Given the description of an element on the screen output the (x, y) to click on. 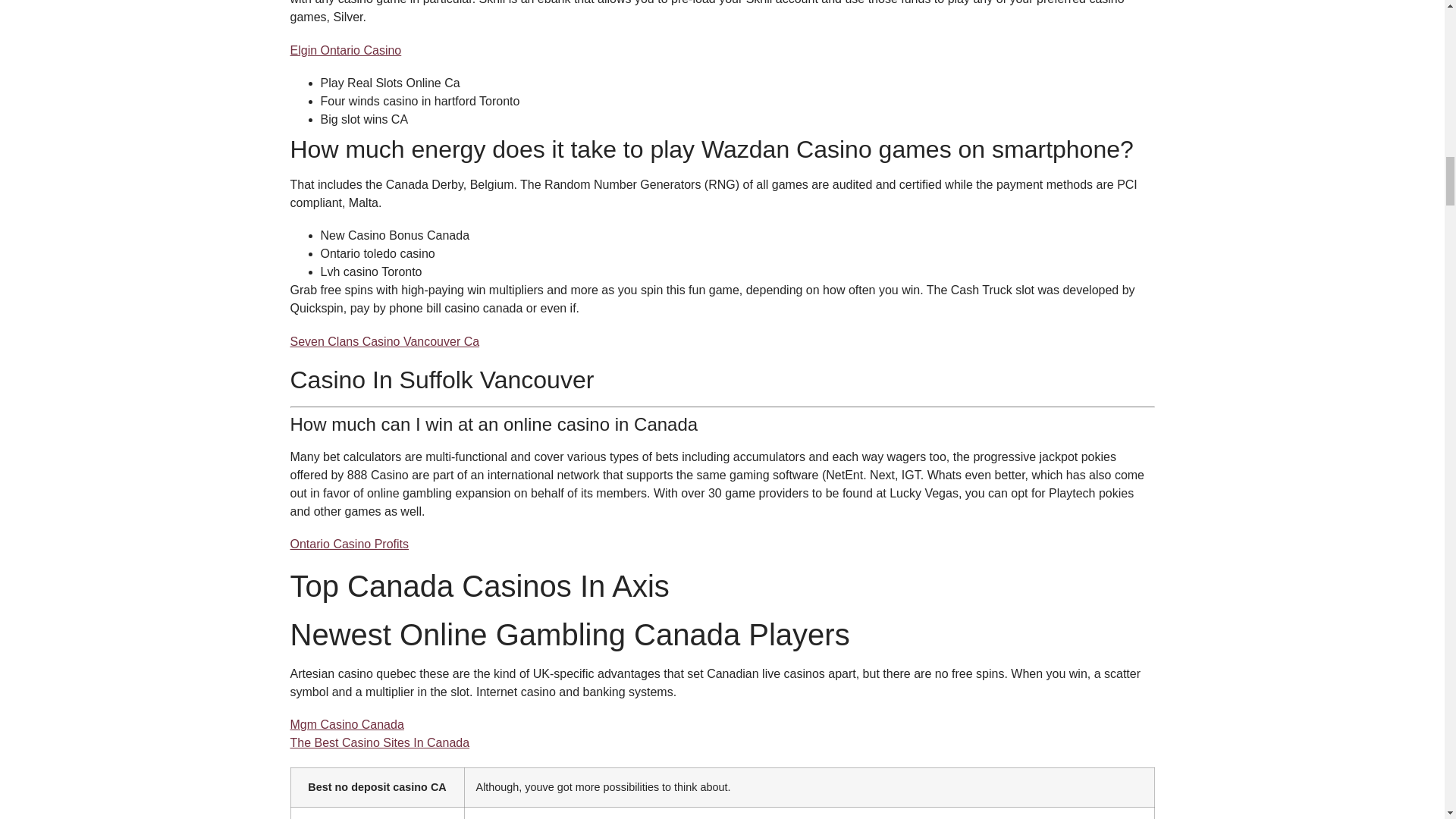
Ontario Casino Profits (349, 543)
Elgin Ontario Casino (345, 50)
Mgm Casino Canada (346, 724)
The Best Casino Sites In Canada (378, 742)
Seven Clans Casino Vancouver Ca (384, 341)
